Given the description of an element on the screen output the (x, y) to click on. 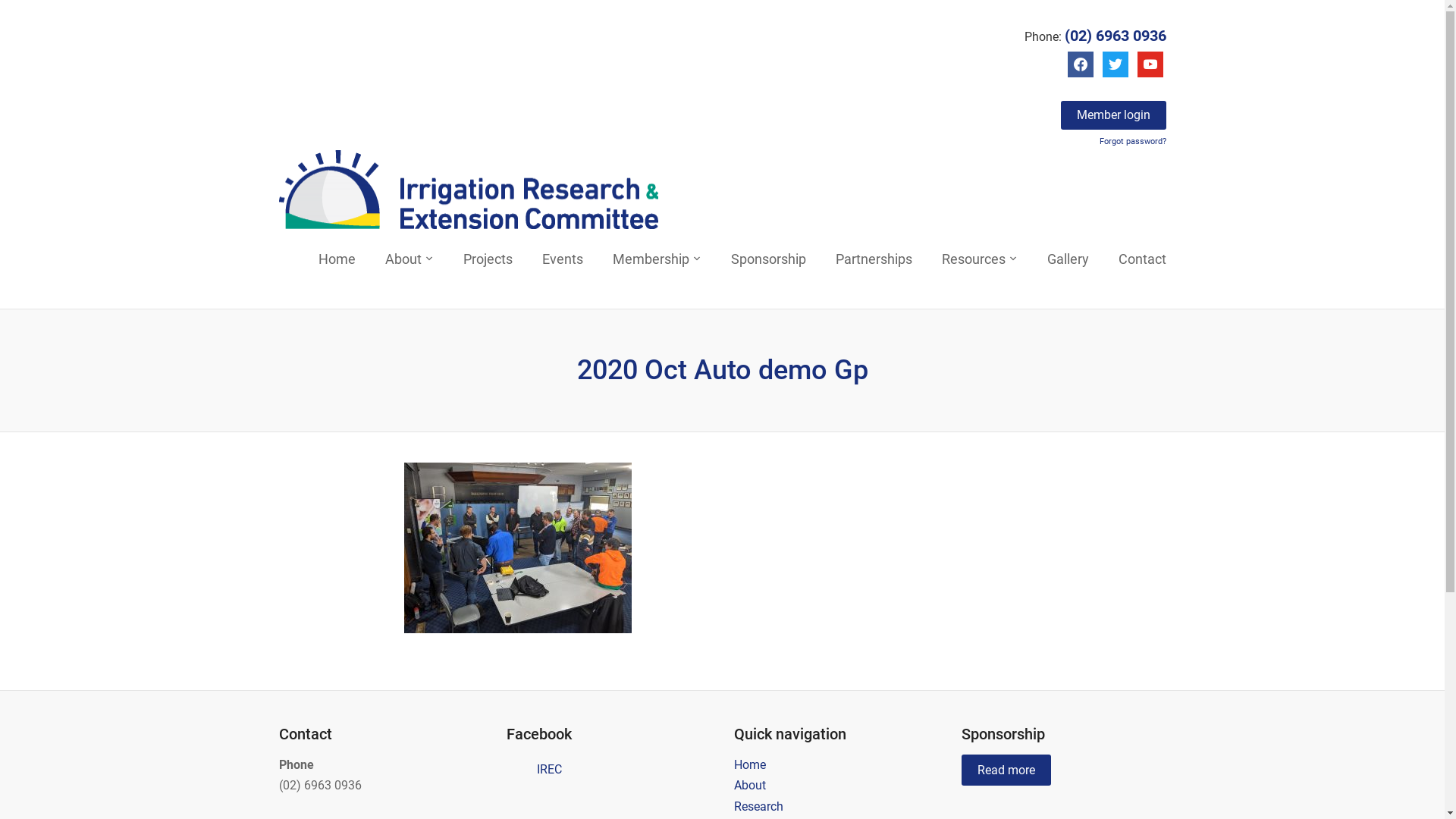
About Element type: text (749, 785)
Forgot password? Element type: text (1132, 139)
twitter Element type: text (1115, 63)
Membership Element type: text (656, 260)
Sponsorship Element type: text (768, 260)
Member login Element type: text (1112, 114)
Resources Element type: text (979, 260)
youtube Element type: text (1150, 63)
About Element type: text (409, 260)
Partnerships Element type: text (873, 260)
facebook Element type: text (1080, 63)
Contact Element type: text (1141, 260)
Home Element type: text (749, 764)
IREC Element type: text (548, 769)
Gallery Element type: text (1067, 260)
Events Element type: text (561, 260)
Home Element type: text (336, 260)
Read more Element type: text (1006, 769)
Irrigation Research & Extension Committee Element type: hover (468, 189)
Projects Element type: text (486, 260)
Research Element type: text (758, 806)
(02) 6963 0936 Element type: text (1115, 35)
